Given the description of an element on the screen output the (x, y) to click on. 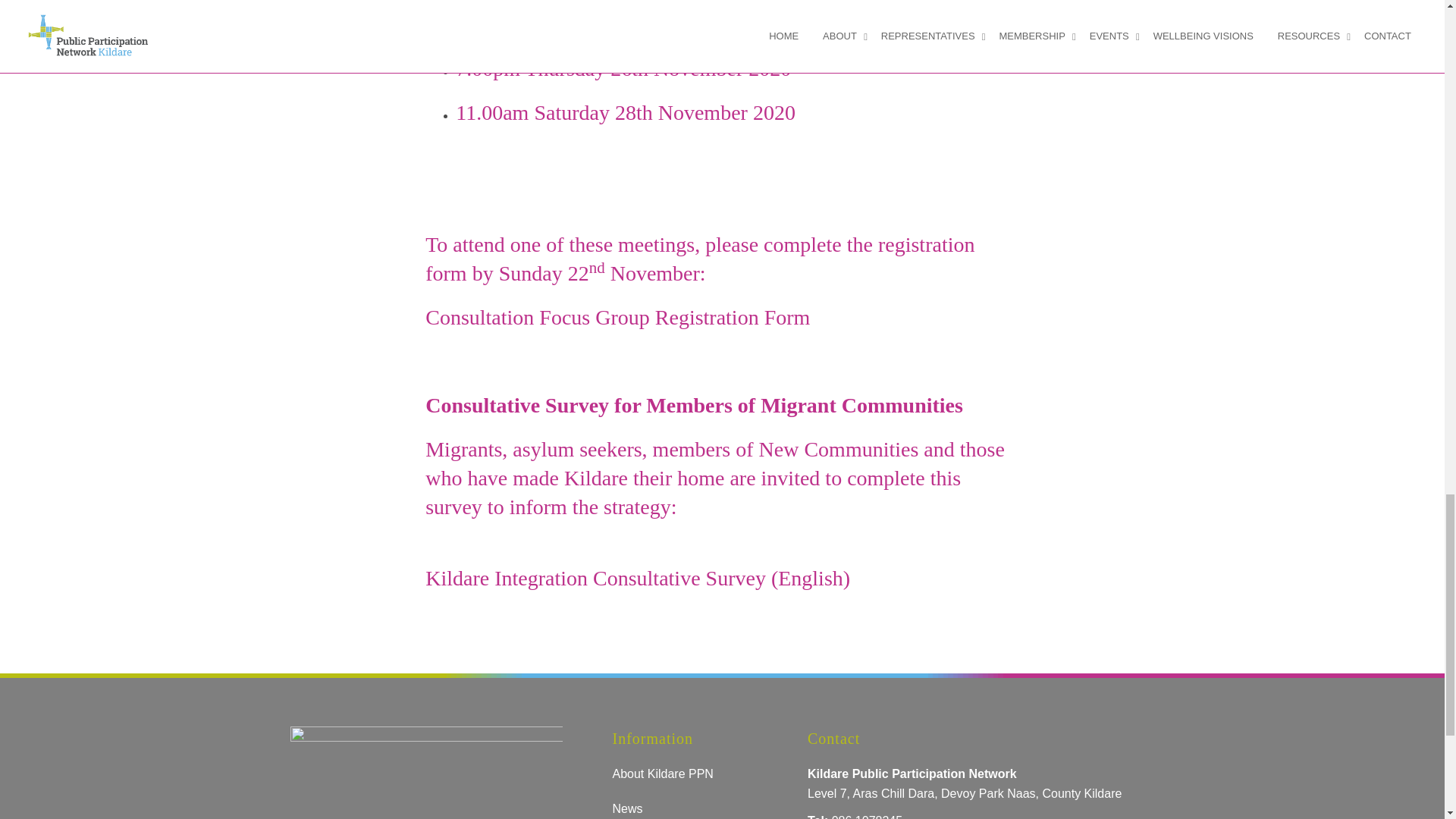
About Kildare PPN (662, 773)
News (626, 808)
Consultation Focus Group Registration Form (617, 317)
